Given the description of an element on the screen output the (x, y) to click on. 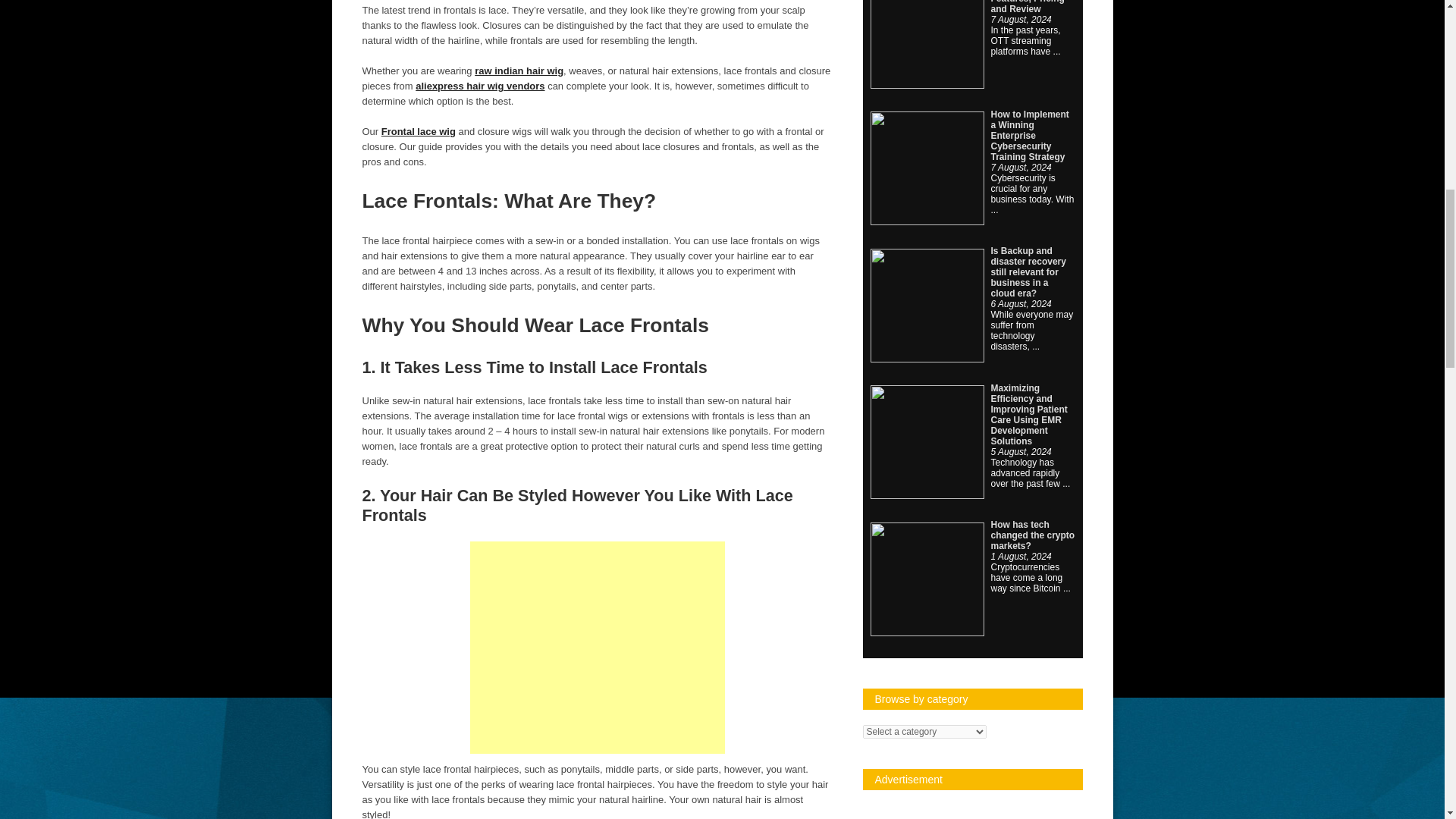
raw indian hair wig (518, 70)
Frontal lace wig (418, 131)
aliexpress hair wig vendors (479, 85)
